Given the description of an element on the screen output the (x, y) to click on. 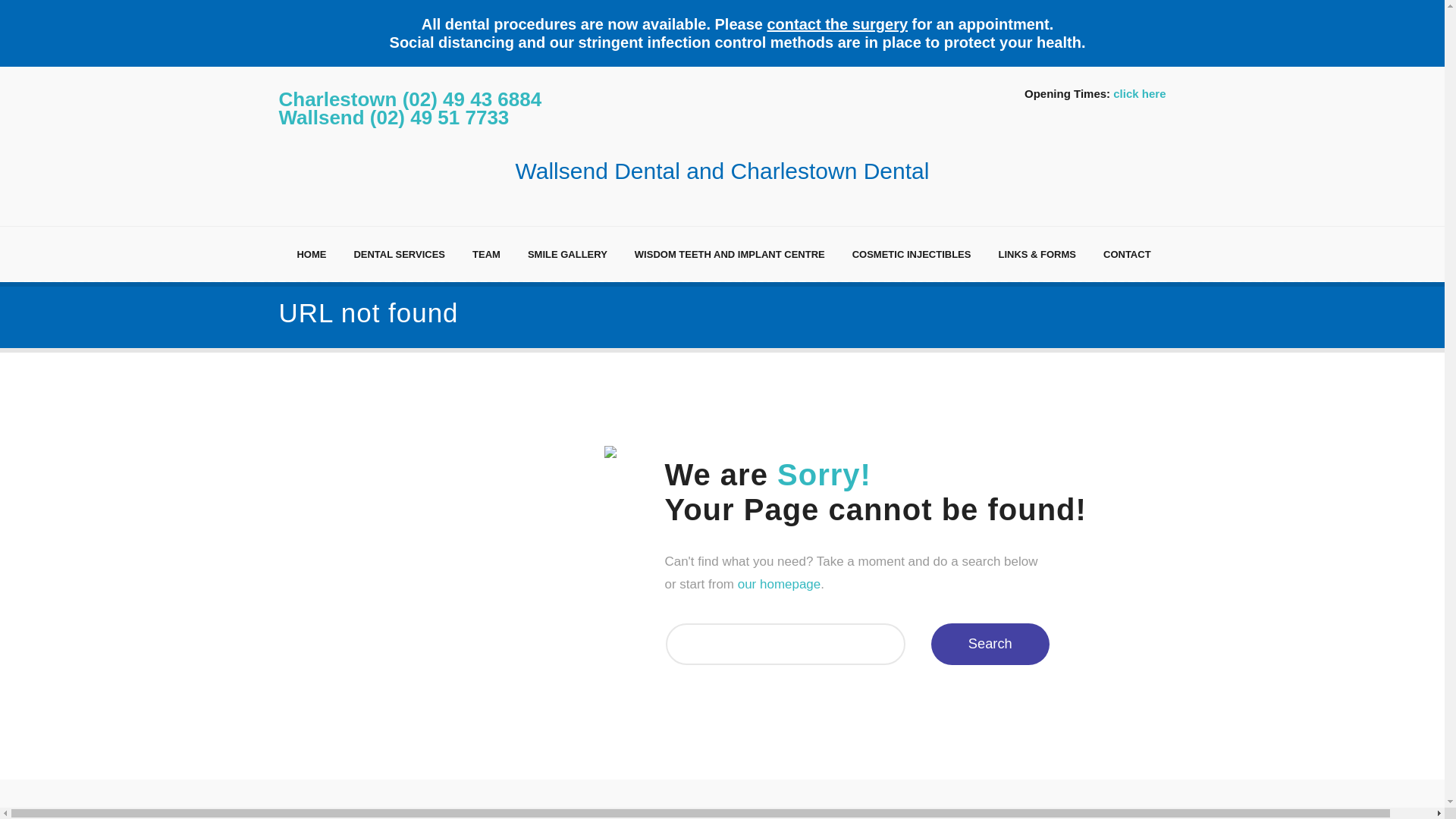
TEAM Element type: text (486, 254)
Wallsend Dental and Charlestown Dental Element type: text (722, 155)
CONTACT Element type: text (1127, 254)
SMILE GALLERY Element type: text (567, 254)
our homepage Element type: text (779, 584)
HOME Element type: text (311, 254)
Search Element type: text (990, 644)
contact the surgery Element type: text (836, 23)
COSMETIC INJECTIBLES Element type: text (911, 254)
click here Element type: text (1139, 92)
LINKS & FORMS Element type: text (1036, 254)
DENTAL SERVICES Element type: text (399, 254)
WISDOM TEETH AND IMPLANT CENTRE Element type: text (729, 254)
